Given the description of an element on the screen output the (x, y) to click on. 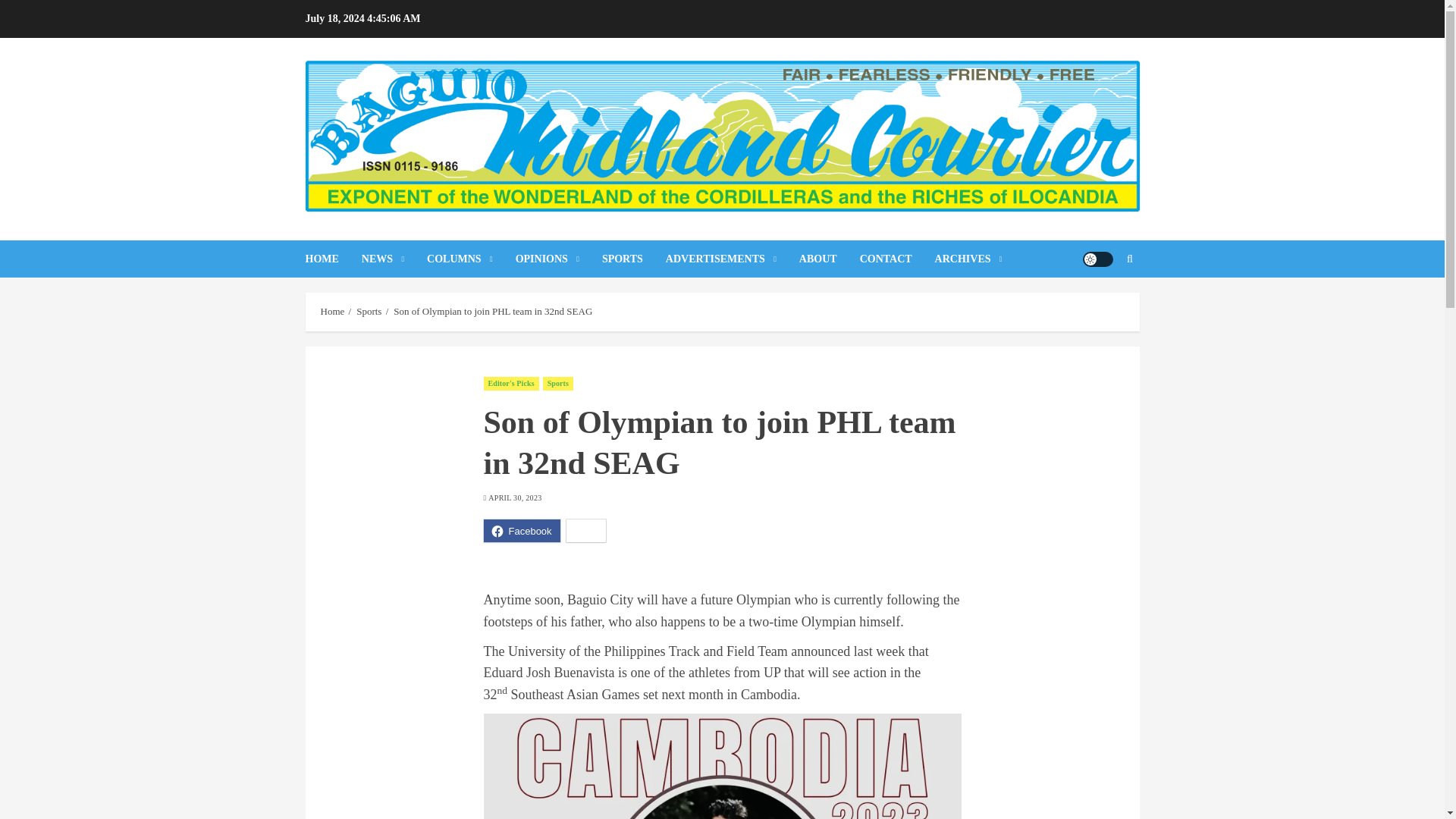
NEWS (393, 258)
Click to share on X (586, 530)
Search (1130, 258)
OPINIONS (558, 258)
Click to share on Facebook (521, 530)
HOME (332, 258)
COLUMNS (470, 258)
